Given the description of an element on the screen output the (x, y) to click on. 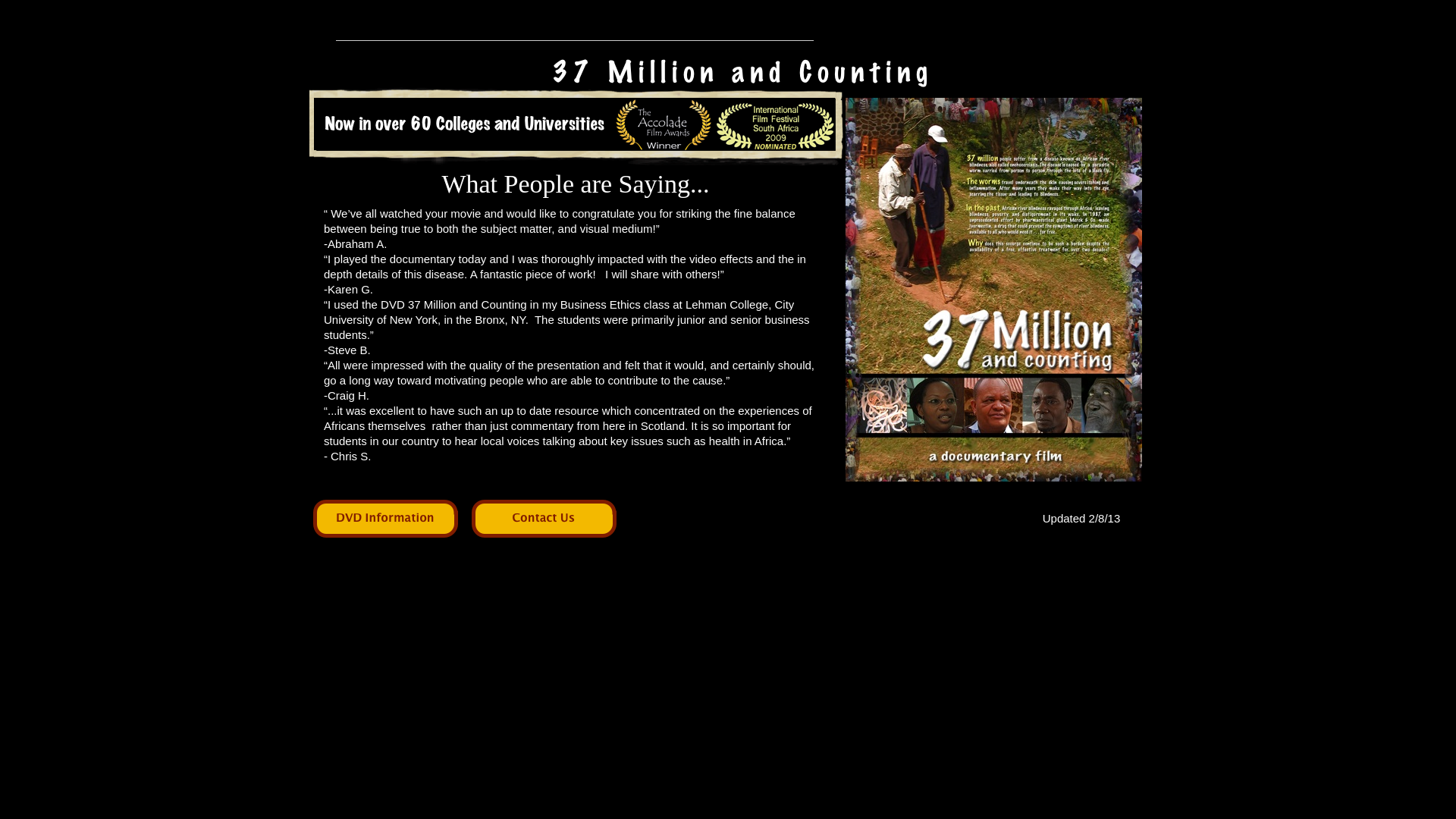
http://livepage.apple.com/ Element type: hover (663, 153)
http://www.amritsa.com/eiff/09/entrants.htm Element type: hover (774, 145)
